Given the description of an element on the screen output the (x, y) to click on. 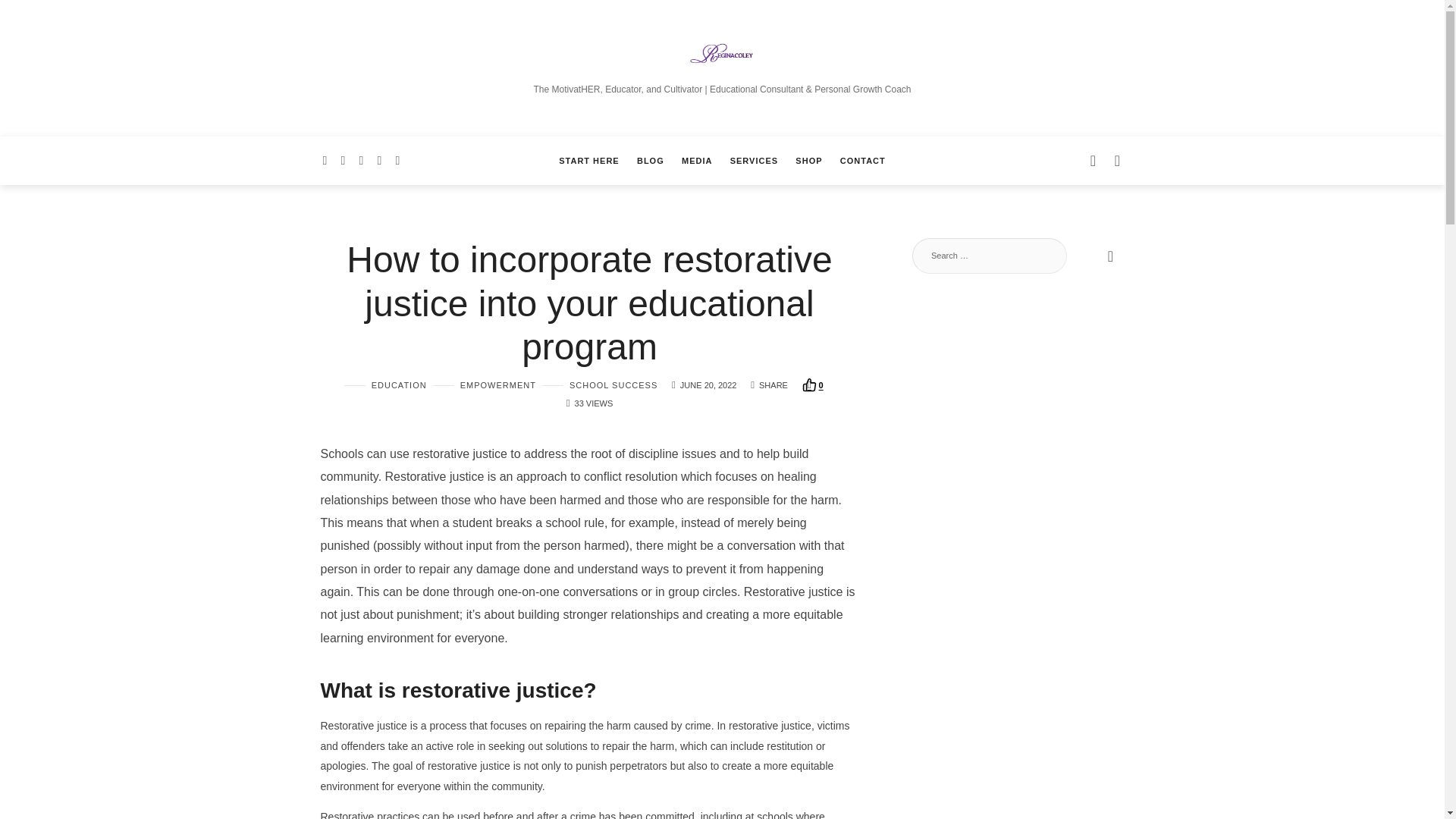
JUNE 20, 2022 (707, 384)
START HERE (588, 160)
SERVICES (753, 160)
EDUCATION (384, 385)
Recommend this (813, 385)
CONTACT (862, 160)
SCHOOL SUCCESS (599, 385)
EMPOWERMENT (483, 385)
Regina E. Coley (722, 58)
